Given the description of an element on the screen output the (x, y) to click on. 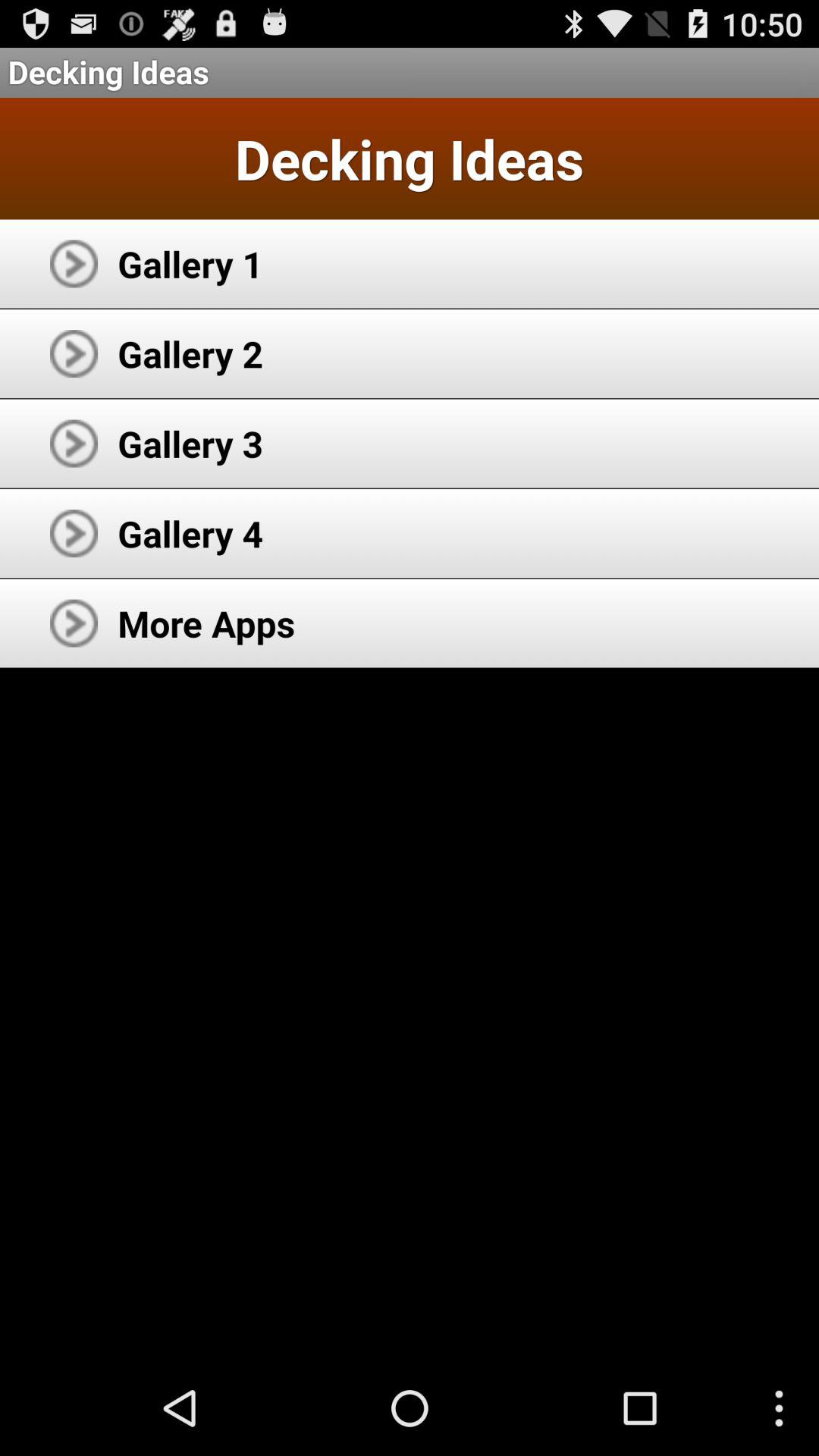
select the app below the gallery 4 icon (206, 622)
